Given the description of an element on the screen output the (x, y) to click on. 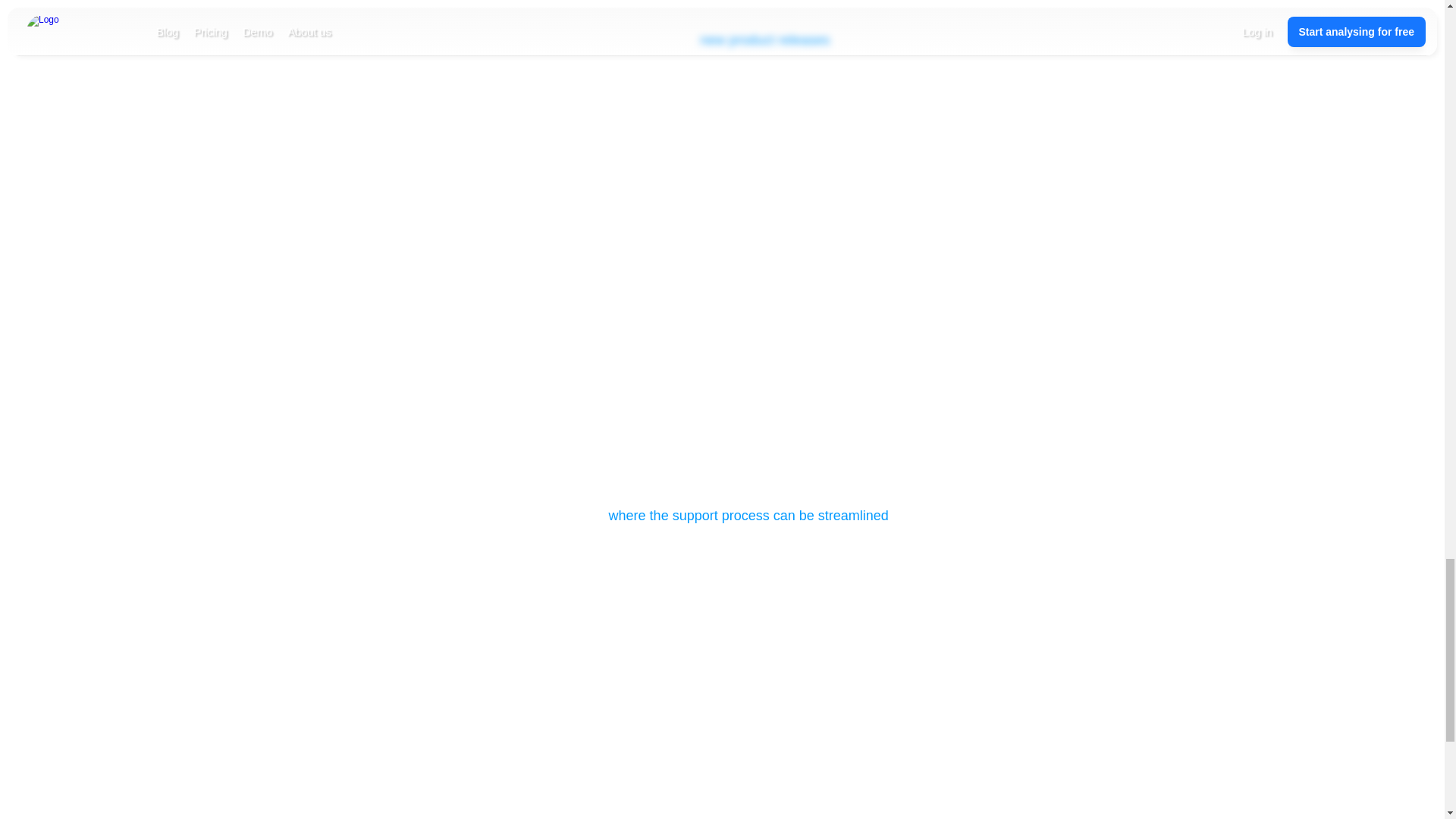
where the support process can be streamlined (748, 515)
new product releases (764, 39)
